Given the description of an element on the screen output the (x, y) to click on. 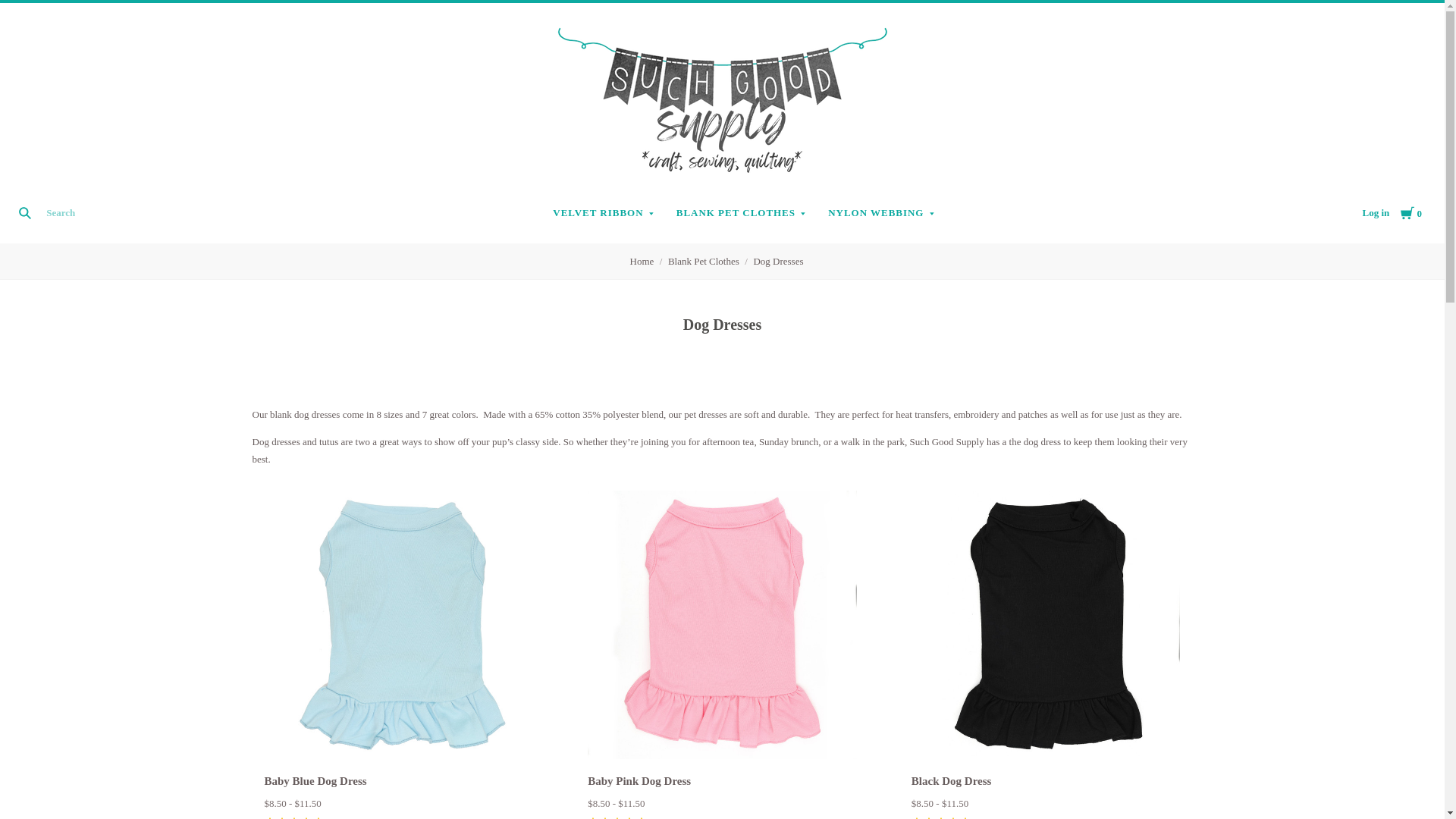
Black Dog Dress (1045, 625)
Black Dog Dress (951, 780)
Baby Pink Dog Dress (722, 625)
Baby Pink Dog Dress (639, 780)
Baby Pink Dog Dress (722, 627)
Baby Blue Dog Dress (1411, 212)
Black Dog Dress (314, 780)
Log in (1045, 627)
BLANK PET CLOTHES (1375, 212)
Baby Blue Dog Dress (740, 213)
VELVET RIBBON (397, 627)
Baby Blue Dog Dress (603, 213)
NYLON WEBBING (397, 625)
